Given the description of an element on the screen output the (x, y) to click on. 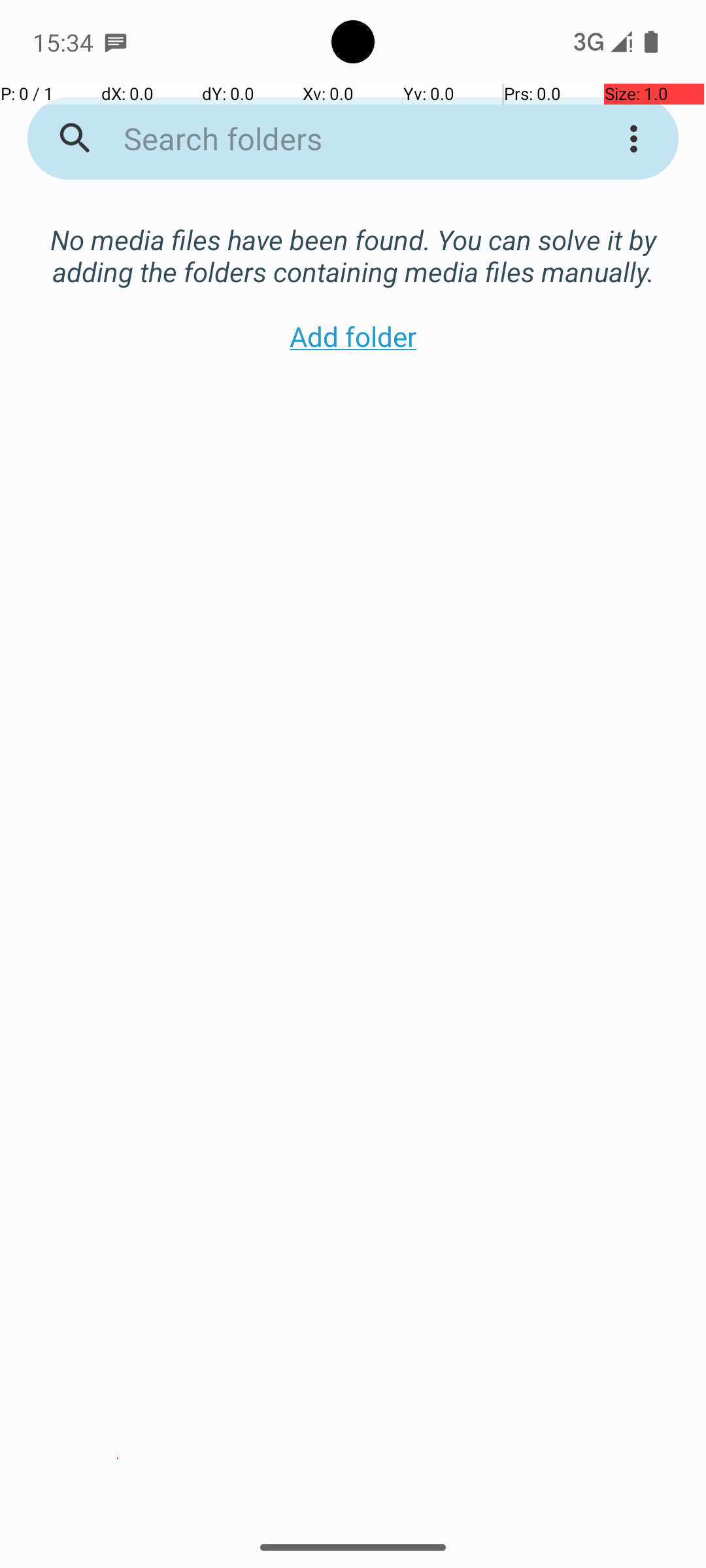
No media files have been found. You can solve it by adding the folders containing media files manually. Element type: android.widget.TextView (353, 241)
Add folder Element type: android.widget.TextView (352, 336)
Search folders Element type: android.widget.EditText (335, 138)
